Given the description of an element on the screen output the (x, y) to click on. 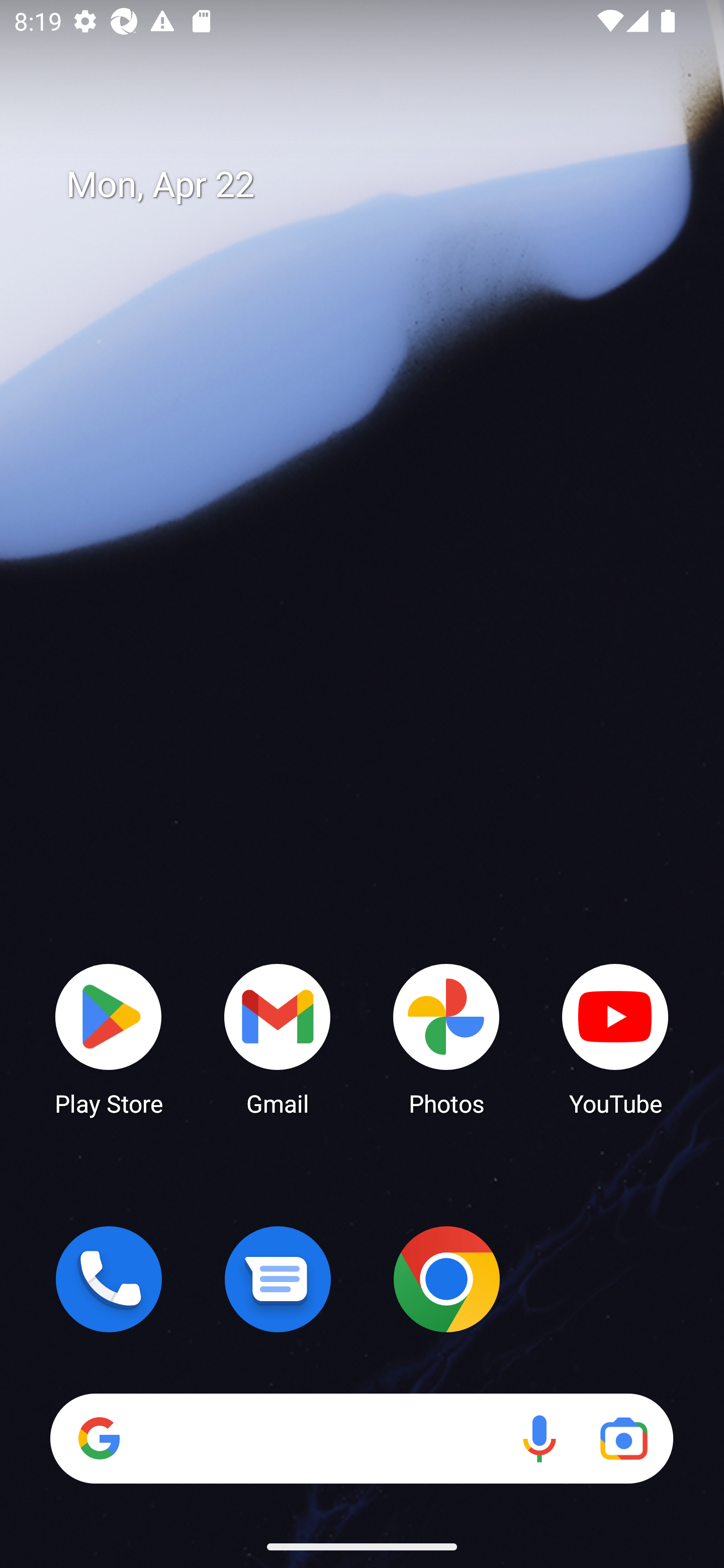
Mon, Apr 22 (375, 184)
Play Store (108, 1038)
Gmail (277, 1038)
Photos (445, 1038)
YouTube (615, 1038)
Phone (108, 1279)
Messages (277, 1279)
Chrome (446, 1279)
Search Voice search Google Lens (361, 1438)
Voice search (539, 1438)
Google Lens (623, 1438)
